Given the description of an element on the screen output the (x, y) to click on. 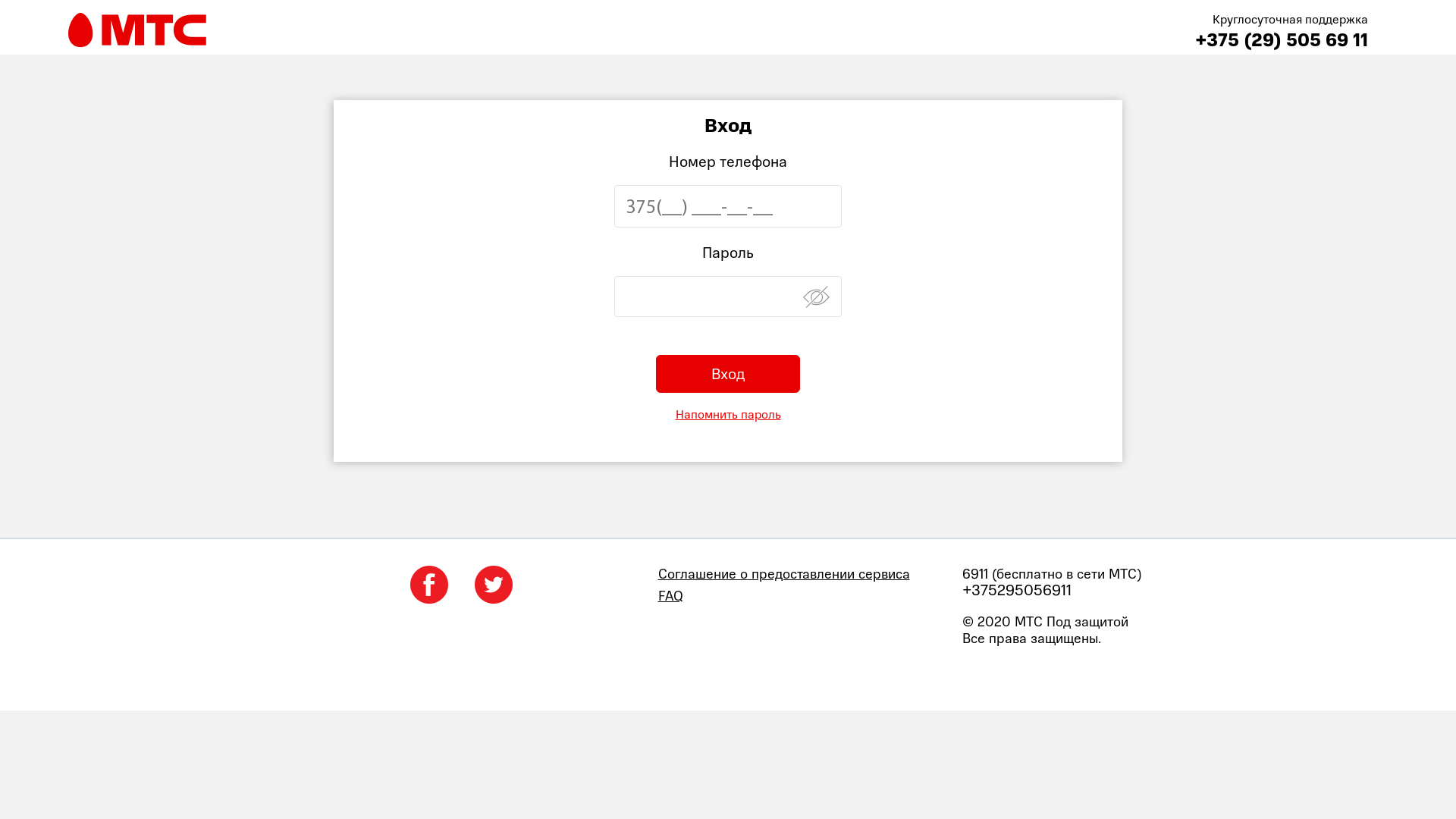
+375295056911 Element type: text (1070, 590)
FAQ Element type: text (804, 595)
+375 (29) 505 69 11 Element type: text (1281, 39)
